Given the description of an element on the screen output the (x, y) to click on. 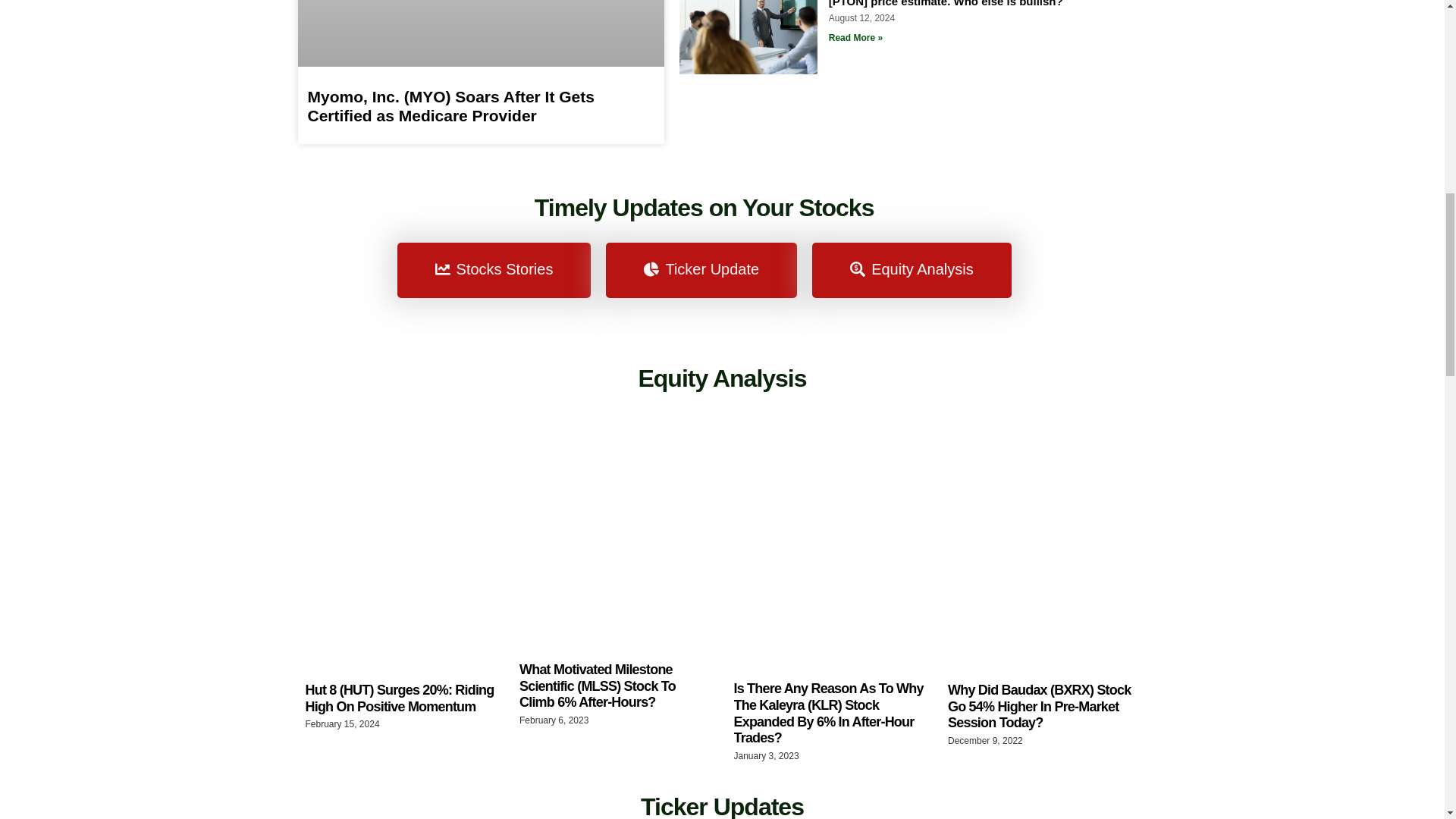
Stocks Stories (494, 270)
Equity Analysis (721, 378)
Ticker Update (700, 270)
Equity Analysis (911, 270)
